Given the description of an element on the screen output the (x, y) to click on. 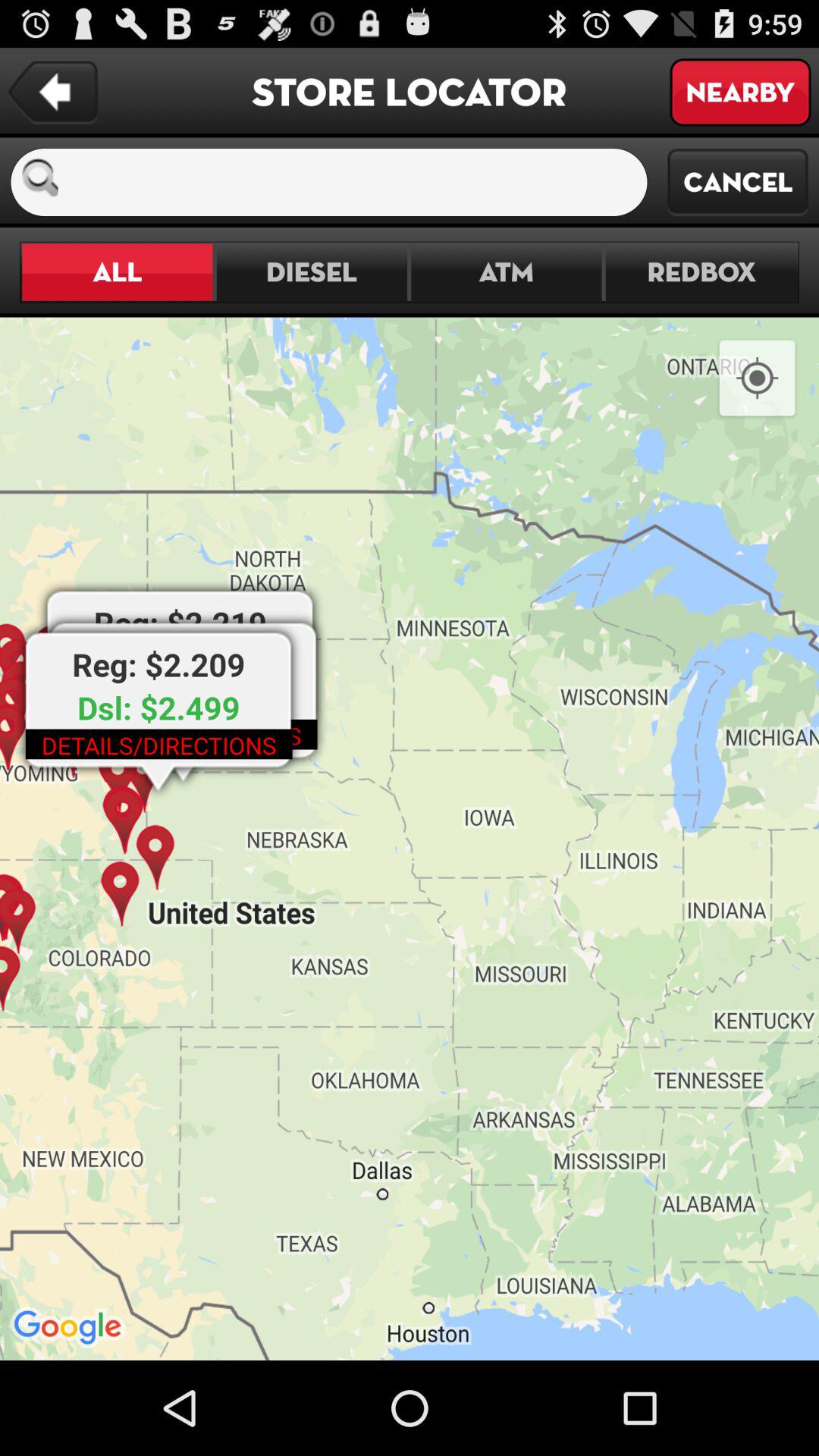
previous page (52, 92)
